Given the description of an element on the screen output the (x, y) to click on. 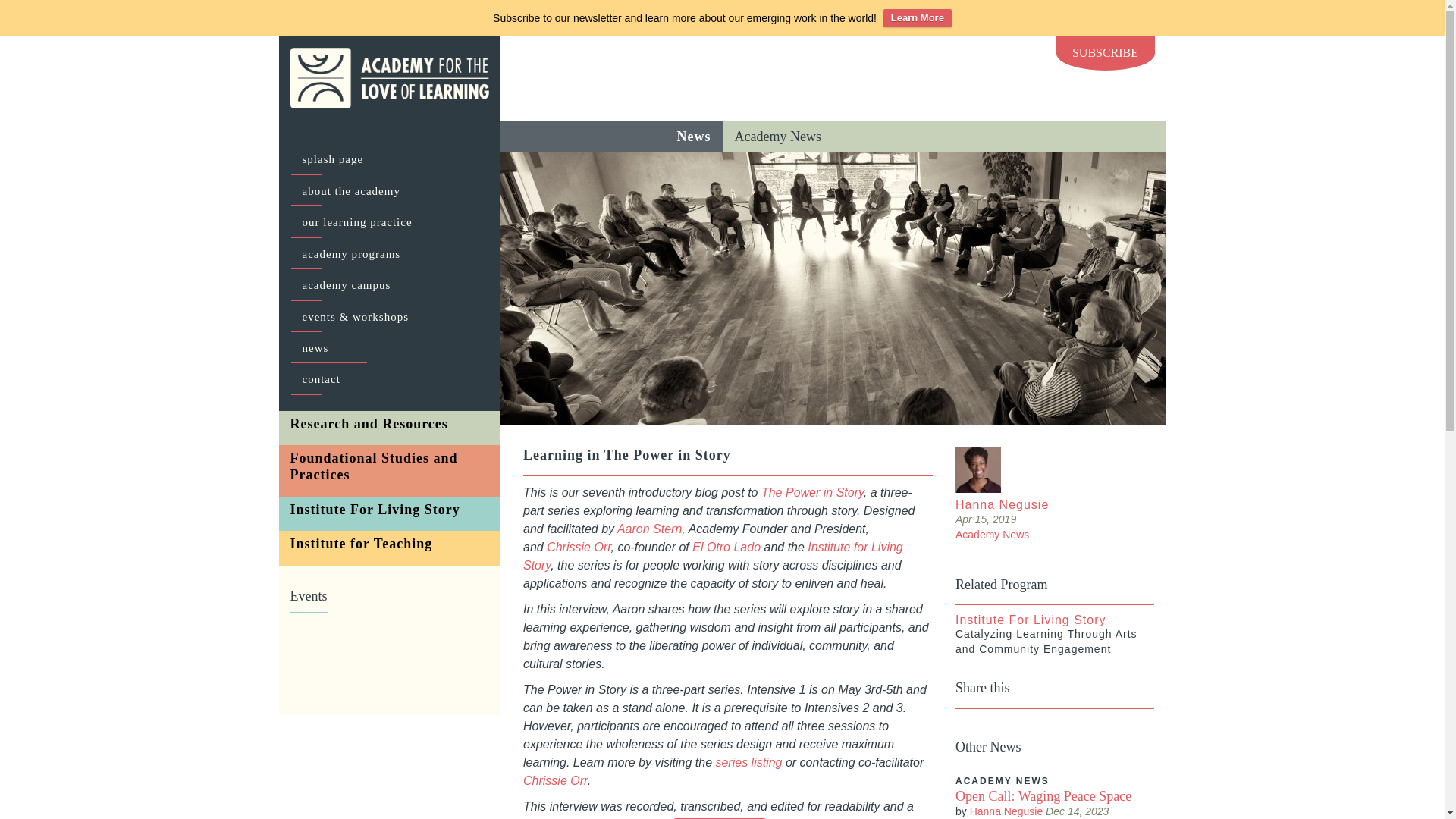
news (389, 348)
News (693, 136)
Institute for Living Story (712, 555)
splash page (389, 159)
academy campus (389, 285)
contact (389, 378)
The Power in Story (812, 492)
Chrissie Orr (578, 546)
El Otro Lado (724, 546)
about the academy (389, 191)
SUBSCRIBE (1104, 53)
Posts by Hanna Negusie (1006, 811)
Foundational Studies and Practices (389, 466)
Institute For Living Story (389, 510)
series listing (747, 762)
